Given the description of an element on the screen output the (x, y) to click on. 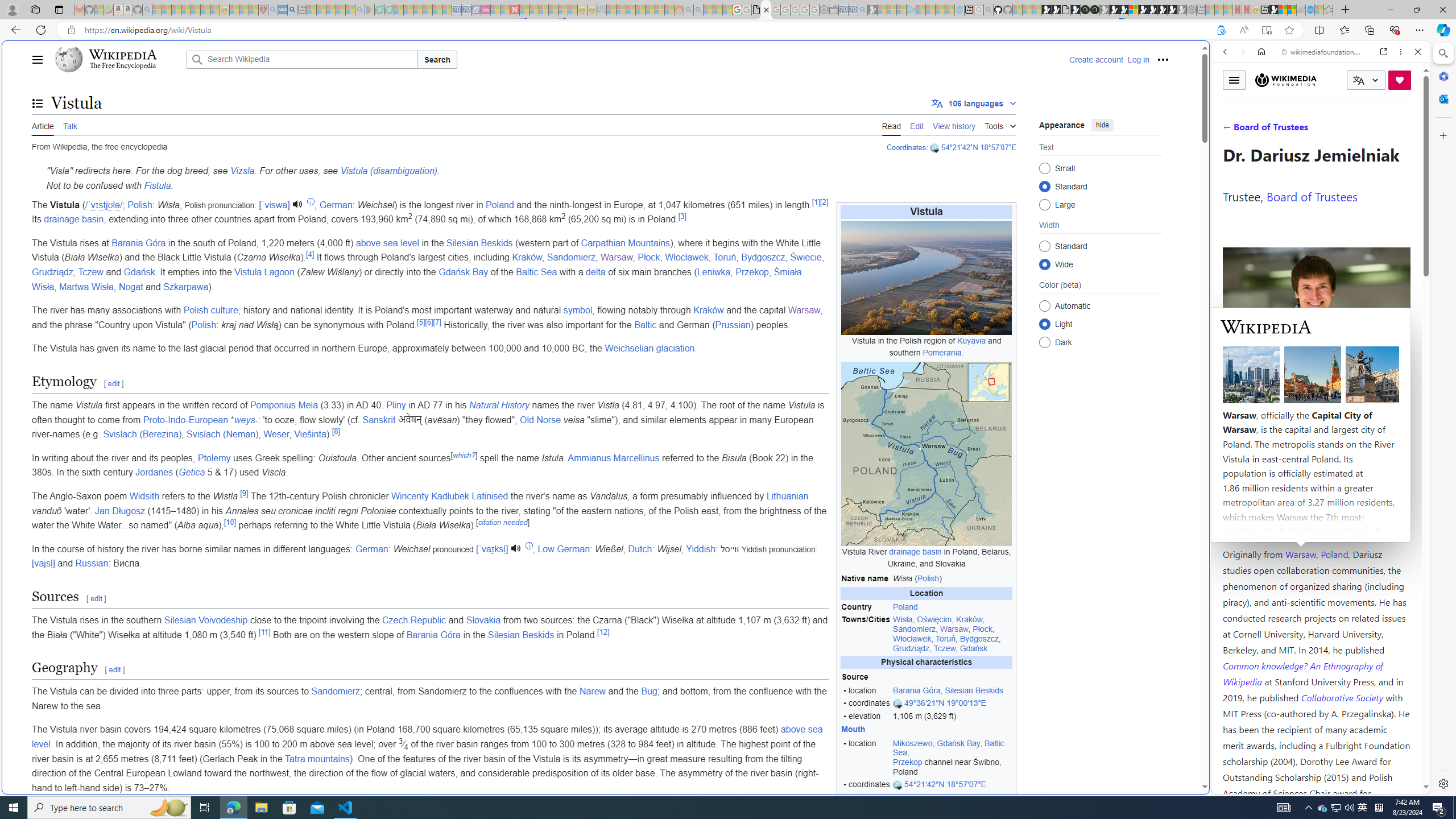
Mouth (865, 729)
Sandomierz (335, 691)
Article (42, 124)
Mikoszewo (912, 742)
[12] (603, 631)
Weichselian glaciation (649, 348)
Polish culture (210, 310)
